Given the description of an element on the screen output the (x, y) to click on. 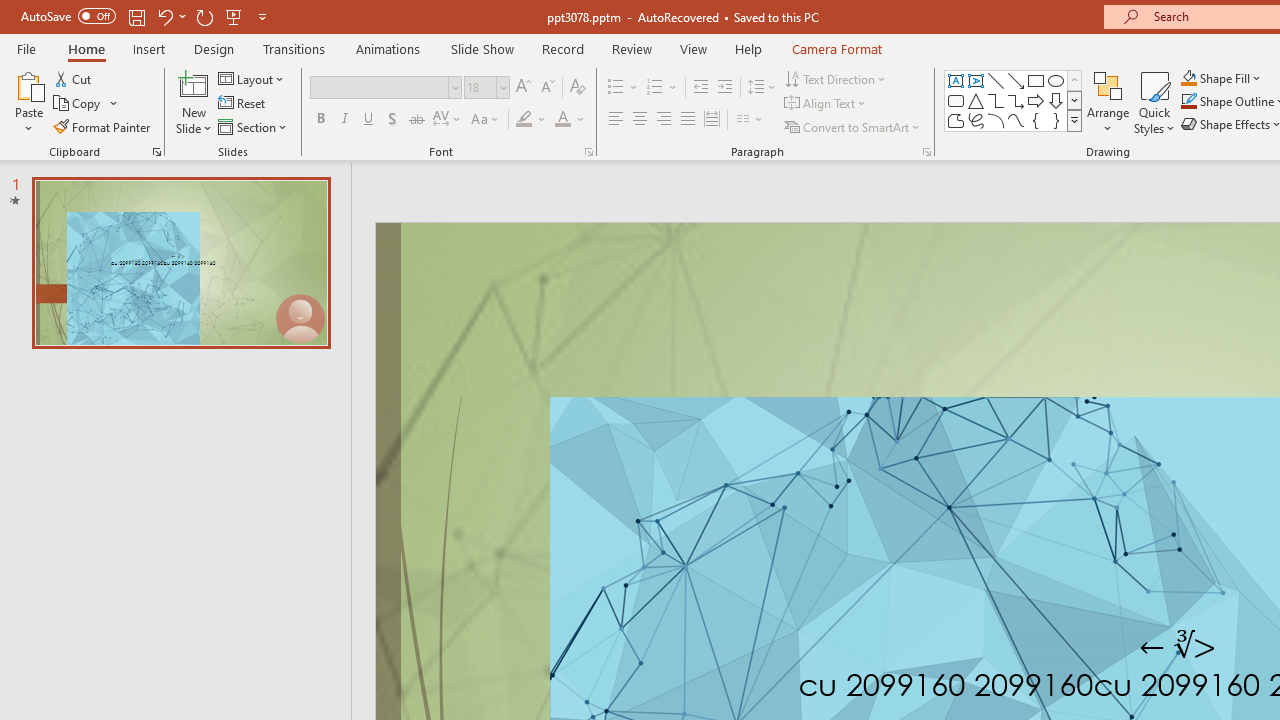
TextBox 7 (1178, 646)
